Given the description of an element on the screen output the (x, y) to click on. 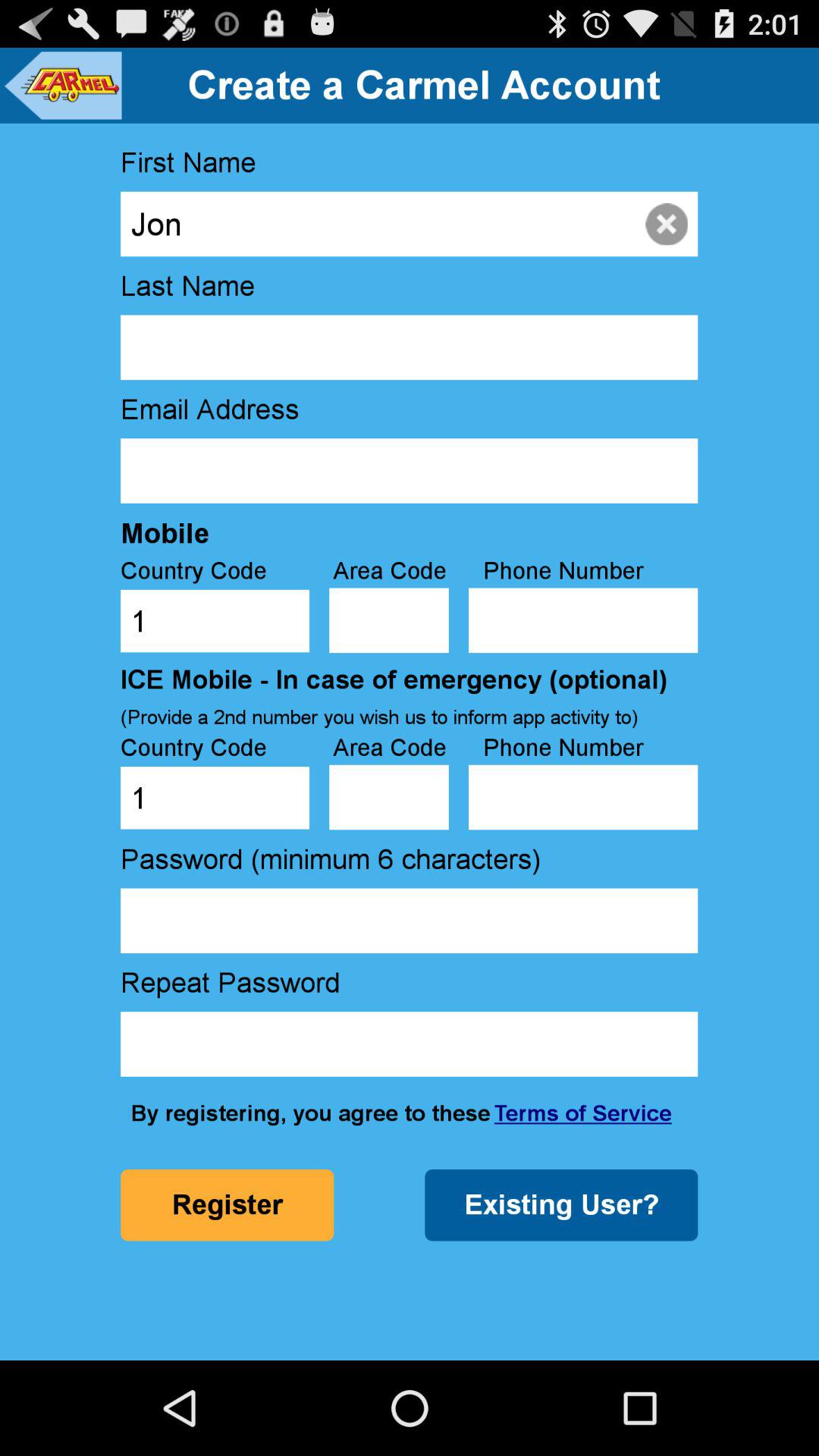
open jon item (408, 223)
